Given the description of an element on the screen output the (x, y) to click on. 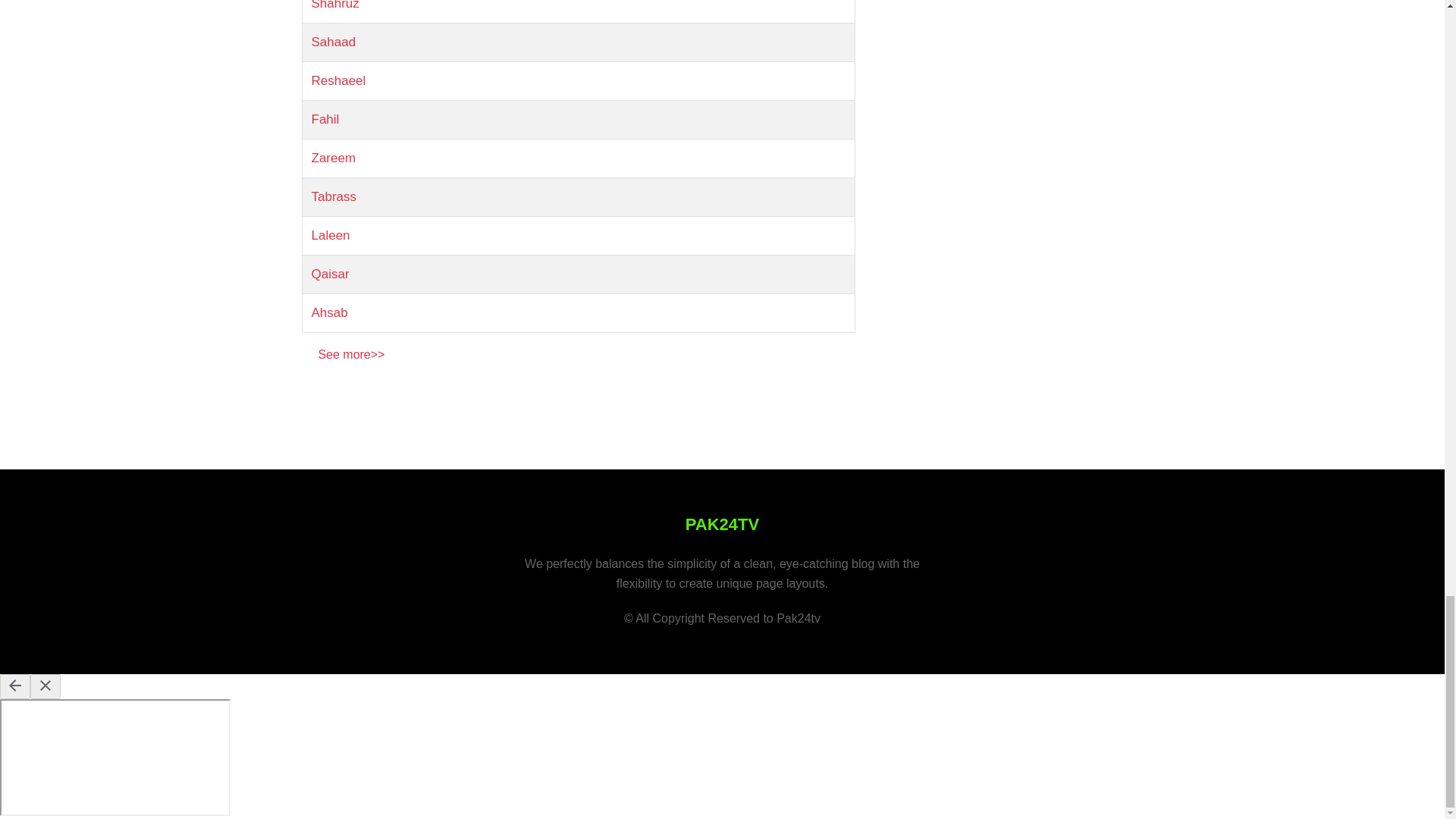
Fahil (325, 119)
Ahsab (329, 312)
Reshaeel (338, 80)
Laleen (330, 235)
Shahruz (334, 5)
Zareem (333, 157)
Tabrass (333, 196)
Qaisar (330, 273)
Sahaad (333, 42)
